Given the description of an element on the screen output the (x, y) to click on. 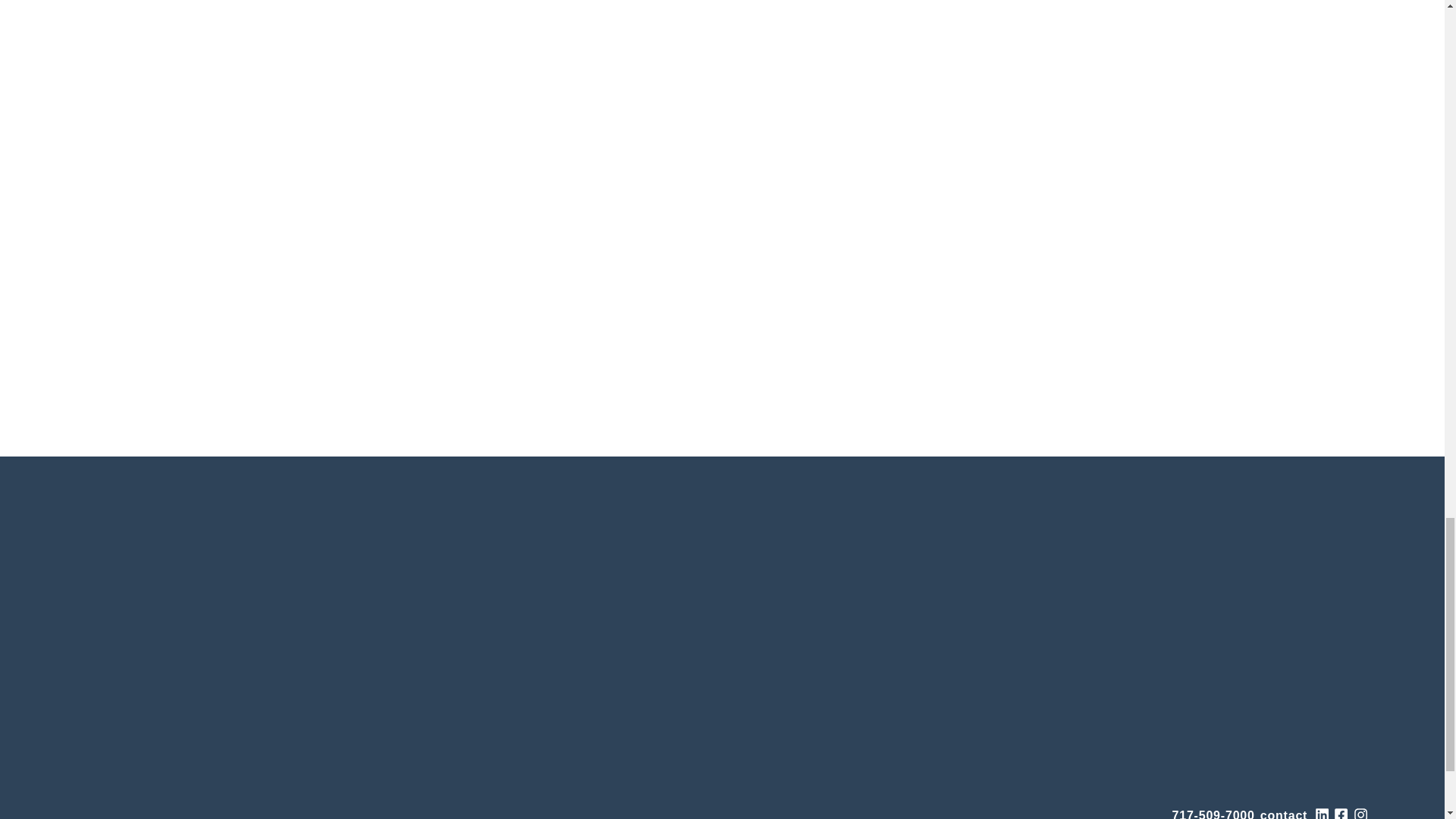
717-509-7000 (1213, 812)
contact (1283, 812)
